Given the description of an element on the screen output the (x, y) to click on. 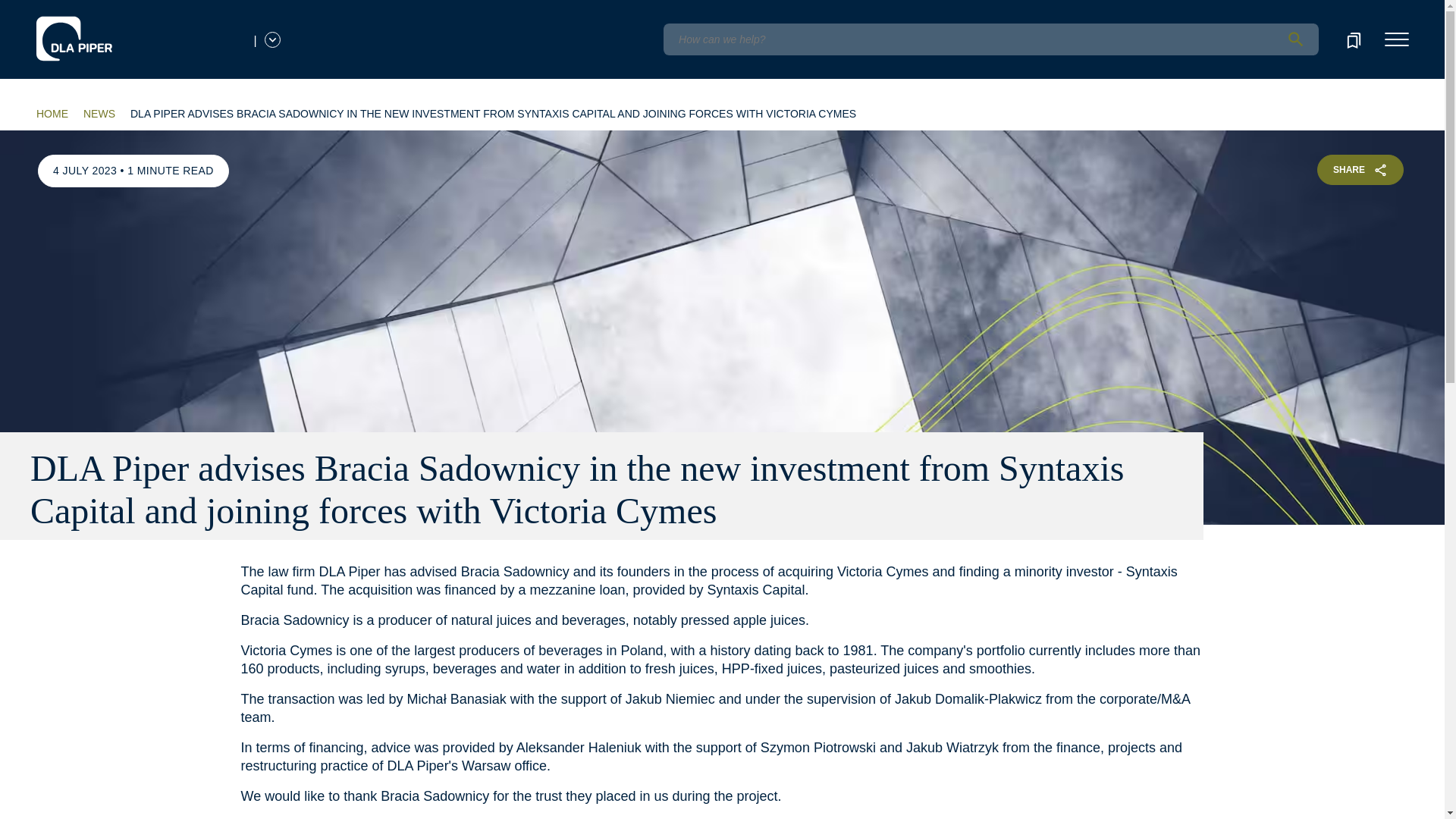
Insert a query. Press enter to send (990, 39)
HOME (52, 113)
NEWS (98, 113)
